Given the description of an element on the screen output the (x, y) to click on. 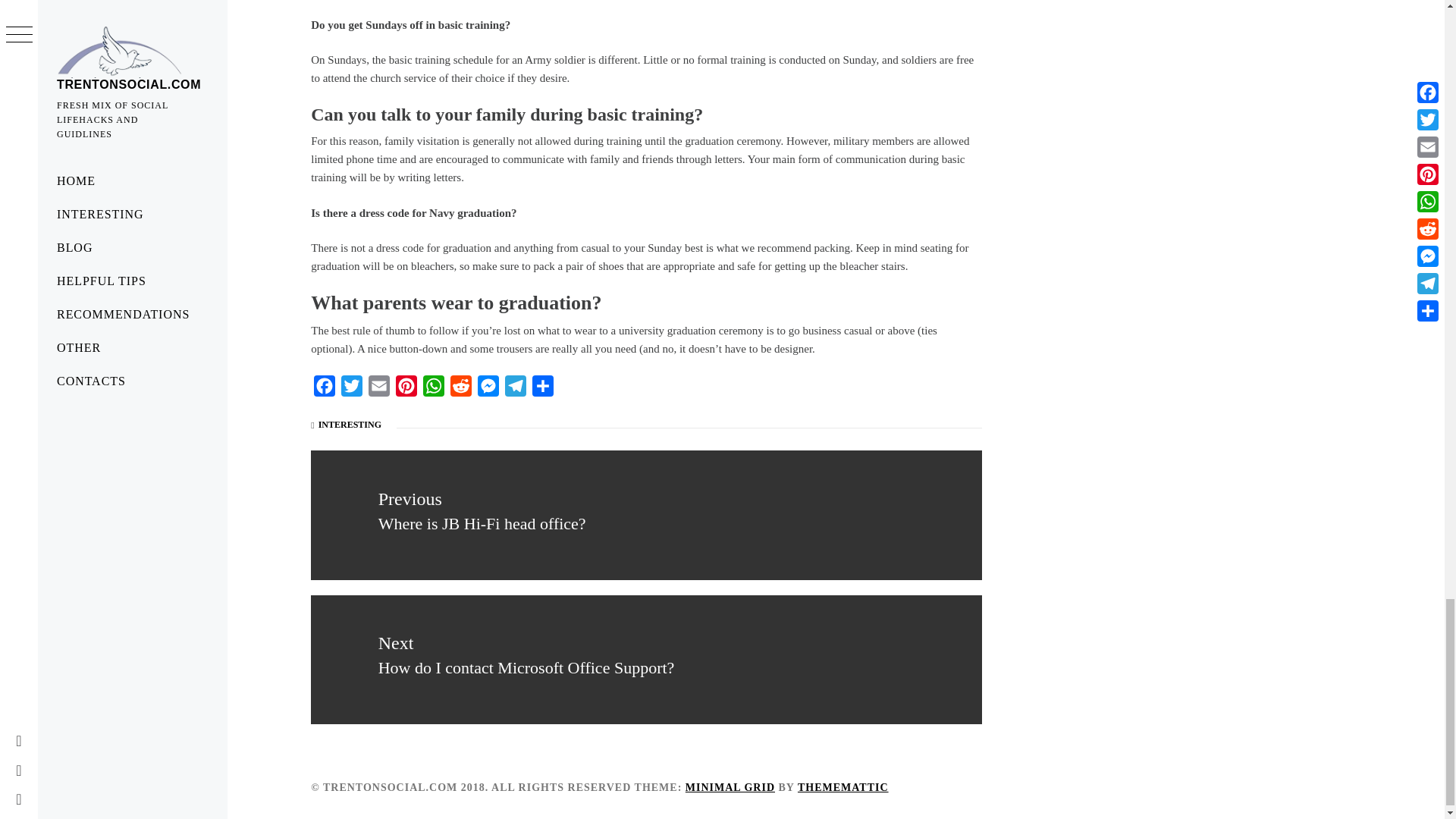
Facebook (324, 389)
Email (379, 389)
Twitter (351, 389)
WhatsApp (433, 389)
Email (379, 389)
Reddit (460, 389)
Pinterest (406, 389)
WhatsApp (433, 389)
Reddit (460, 389)
Facebook (324, 389)
